Given the description of an element on the screen output the (x, y) to click on. 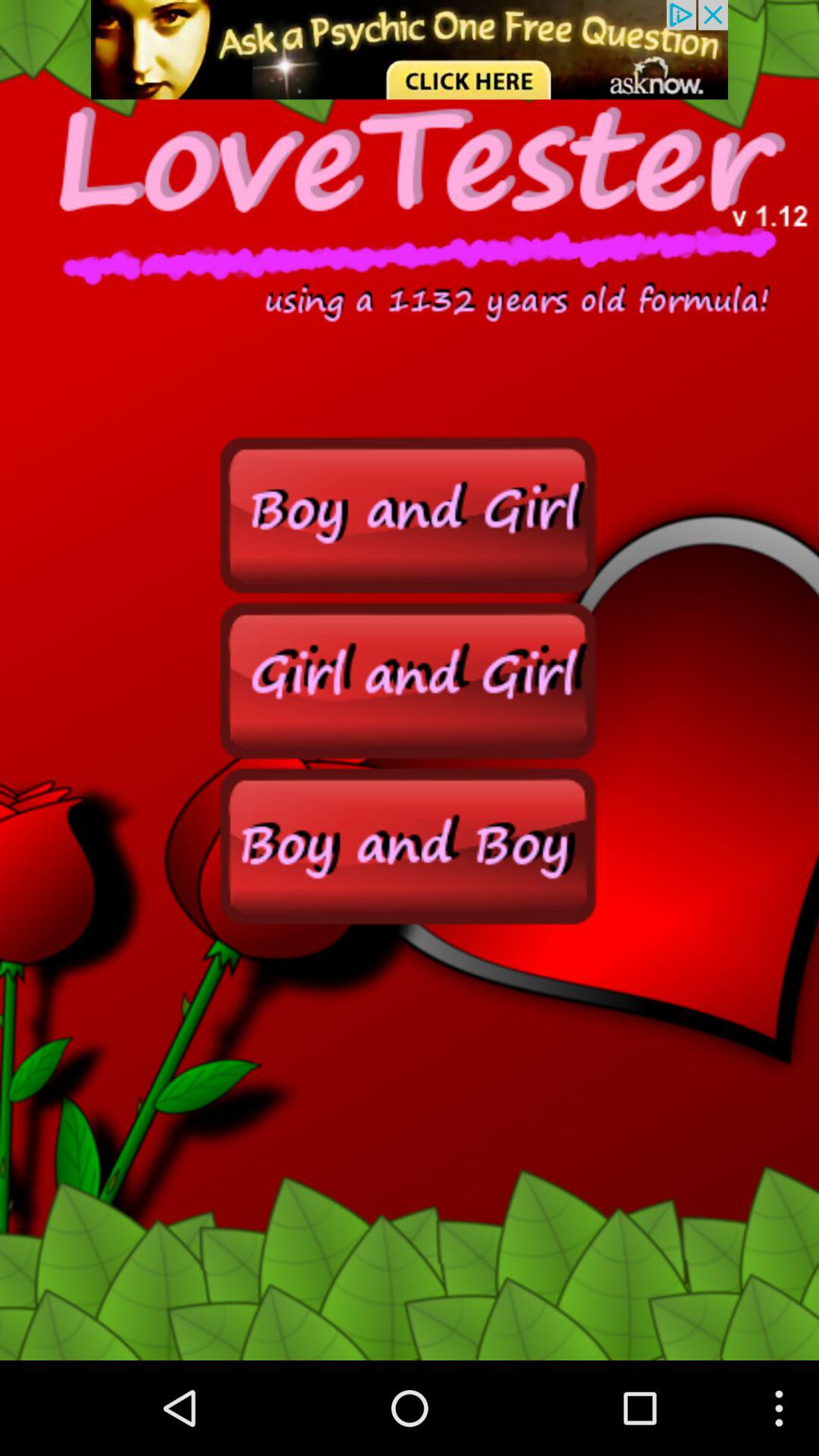
boy and boy (409, 845)
